Given the description of an element on the screen output the (x, y) to click on. 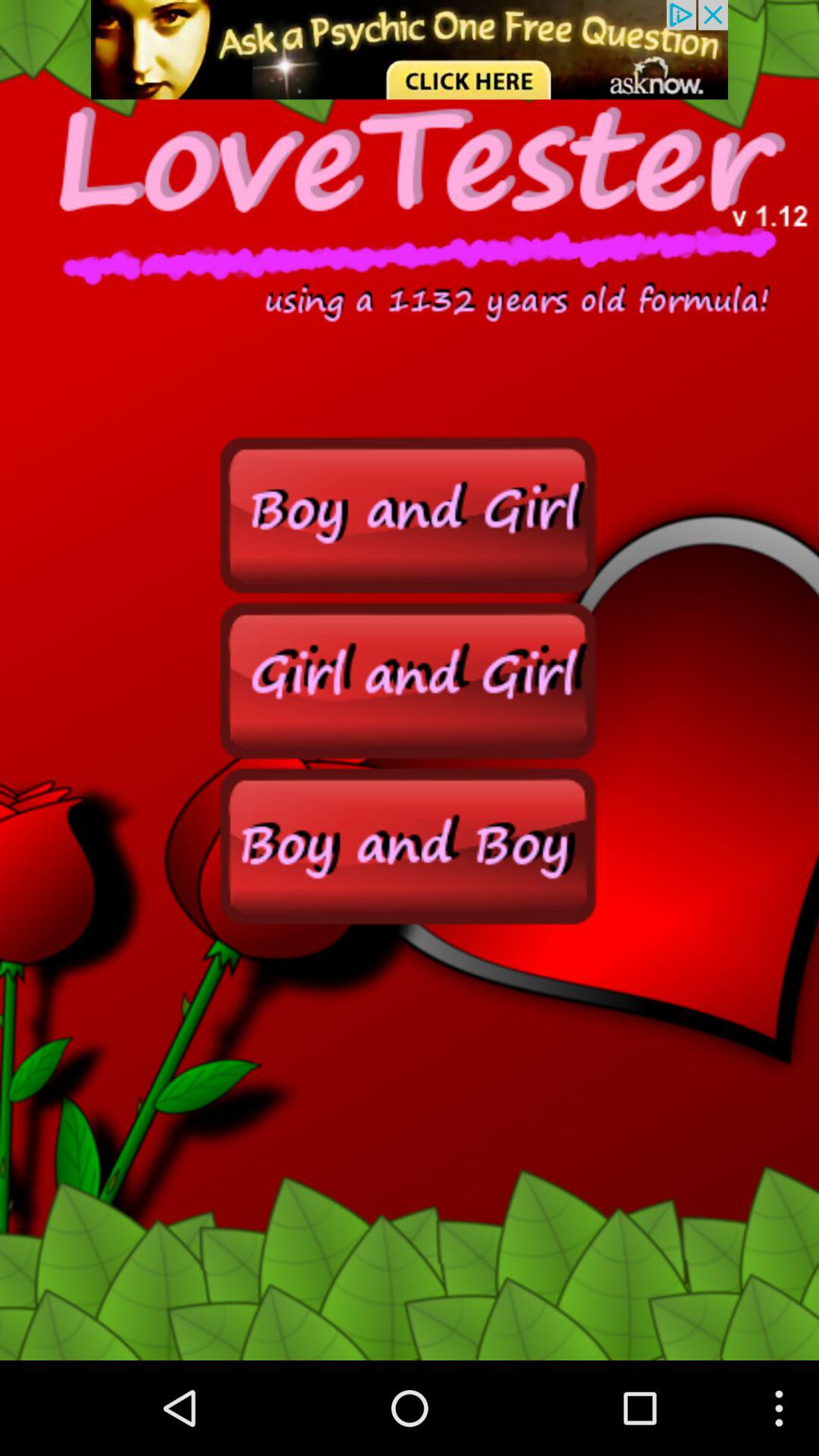
boy and boy (409, 845)
